Given the description of an element on the screen output the (x, y) to click on. 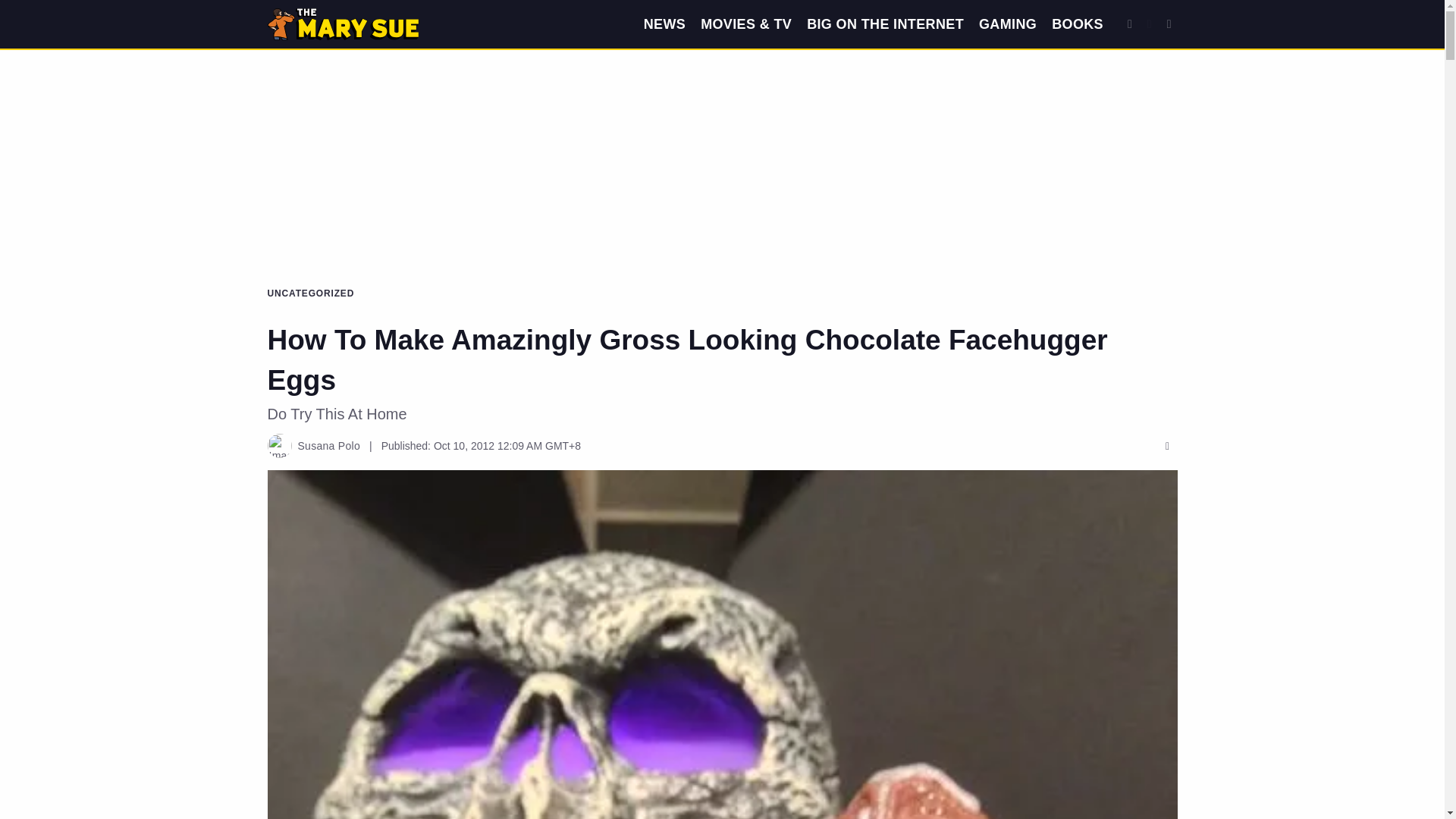
BIG ON THE INTERNET (884, 23)
BOOKS (1077, 23)
NEWS (664, 23)
GAMING (1007, 23)
